Given the description of an element on the screen output the (x, y) to click on. 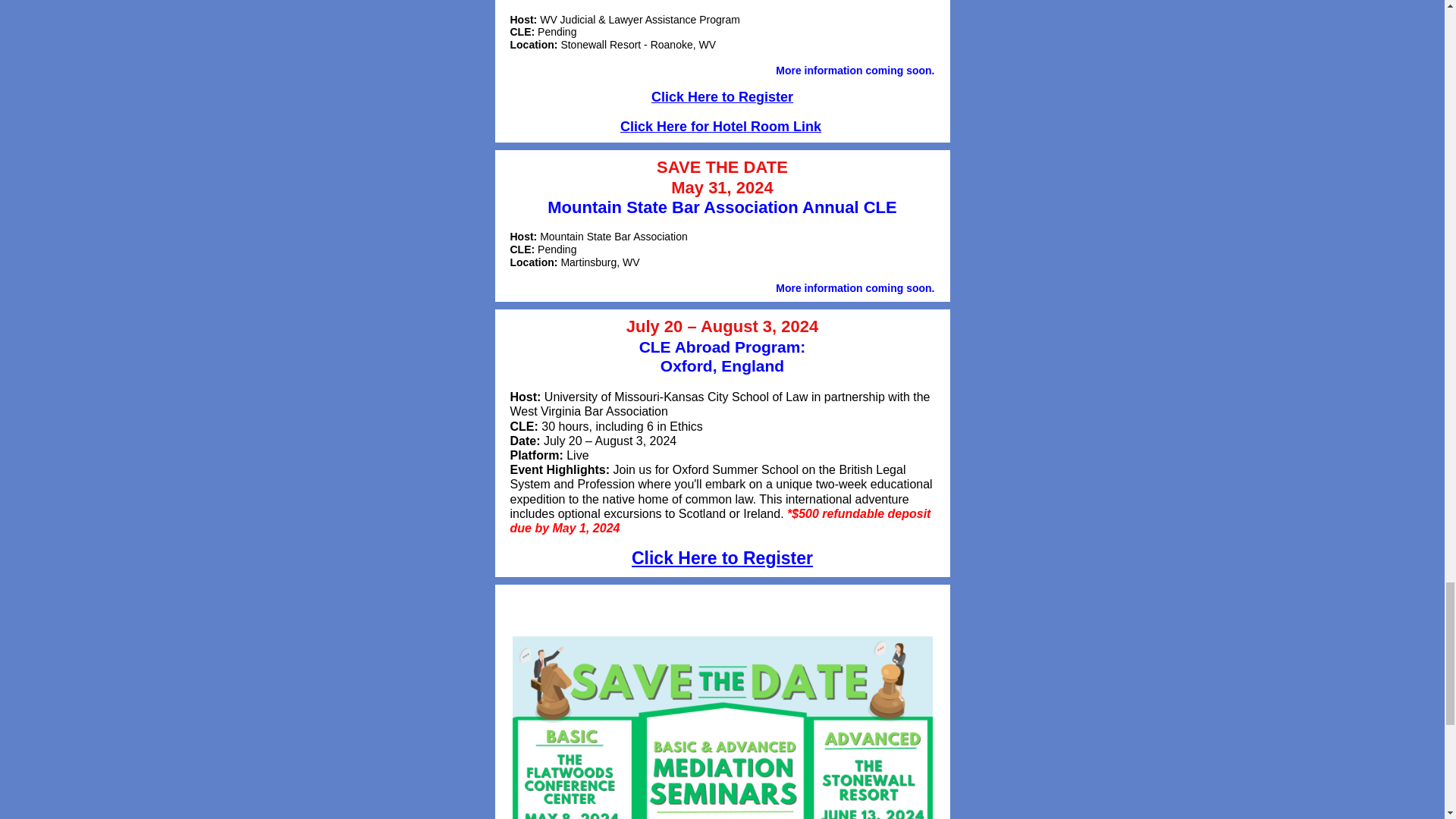
Click Here for Hotel Room Link (720, 126)
Click Here to Register (721, 96)
Click Here to Register (721, 557)
